Given the description of an element on the screen output the (x, y) to click on. 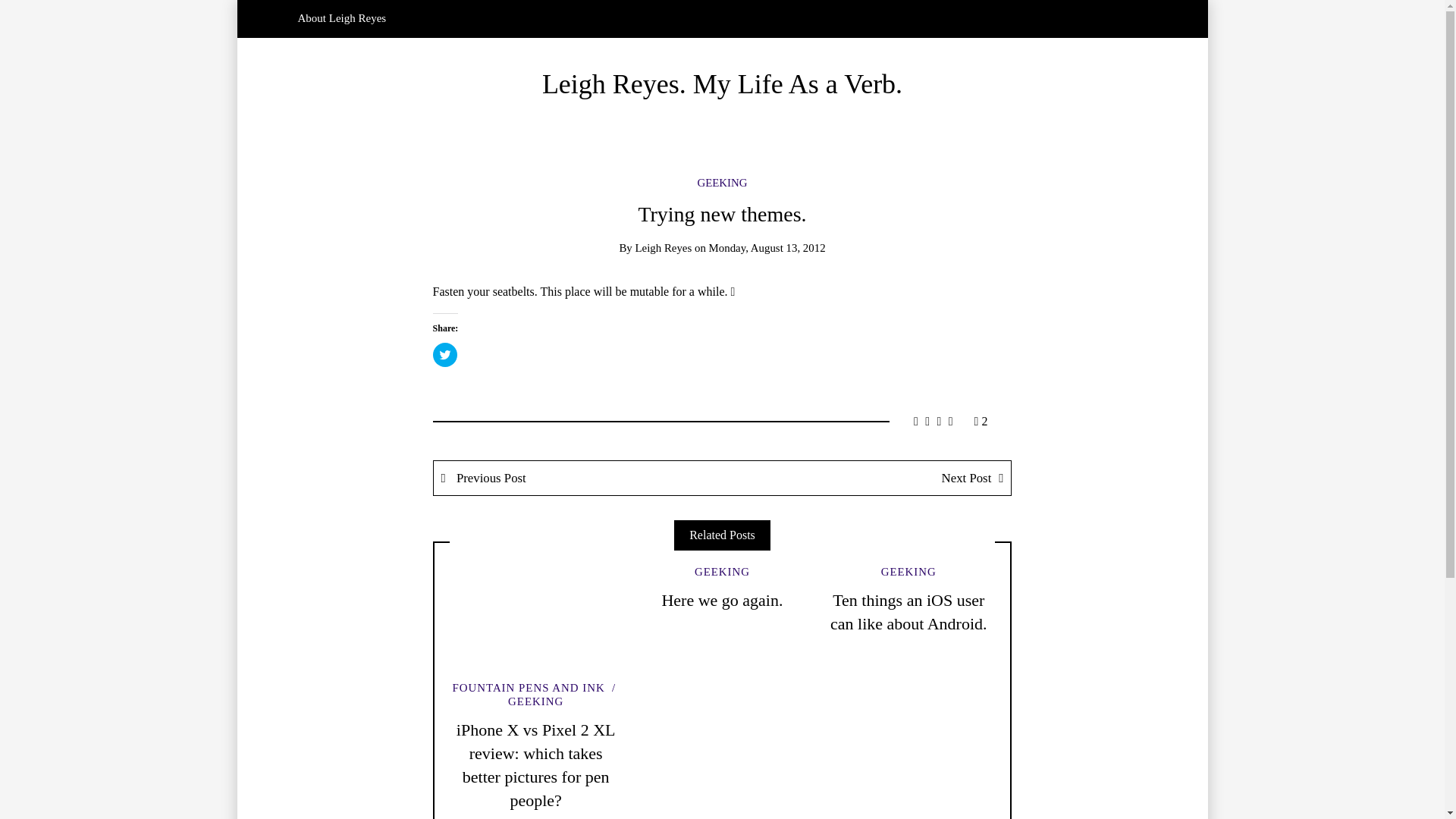
Leigh Reyes (662, 247)
GEEKING (721, 182)
2 (981, 420)
Next Post (866, 478)
Leigh Reyes. My Life As a Verb. (721, 83)
GEEKING (721, 571)
GEEKING (564, 694)
Posts by Leigh Reyes (662, 247)
